Given the description of an element on the screen output the (x, y) to click on. 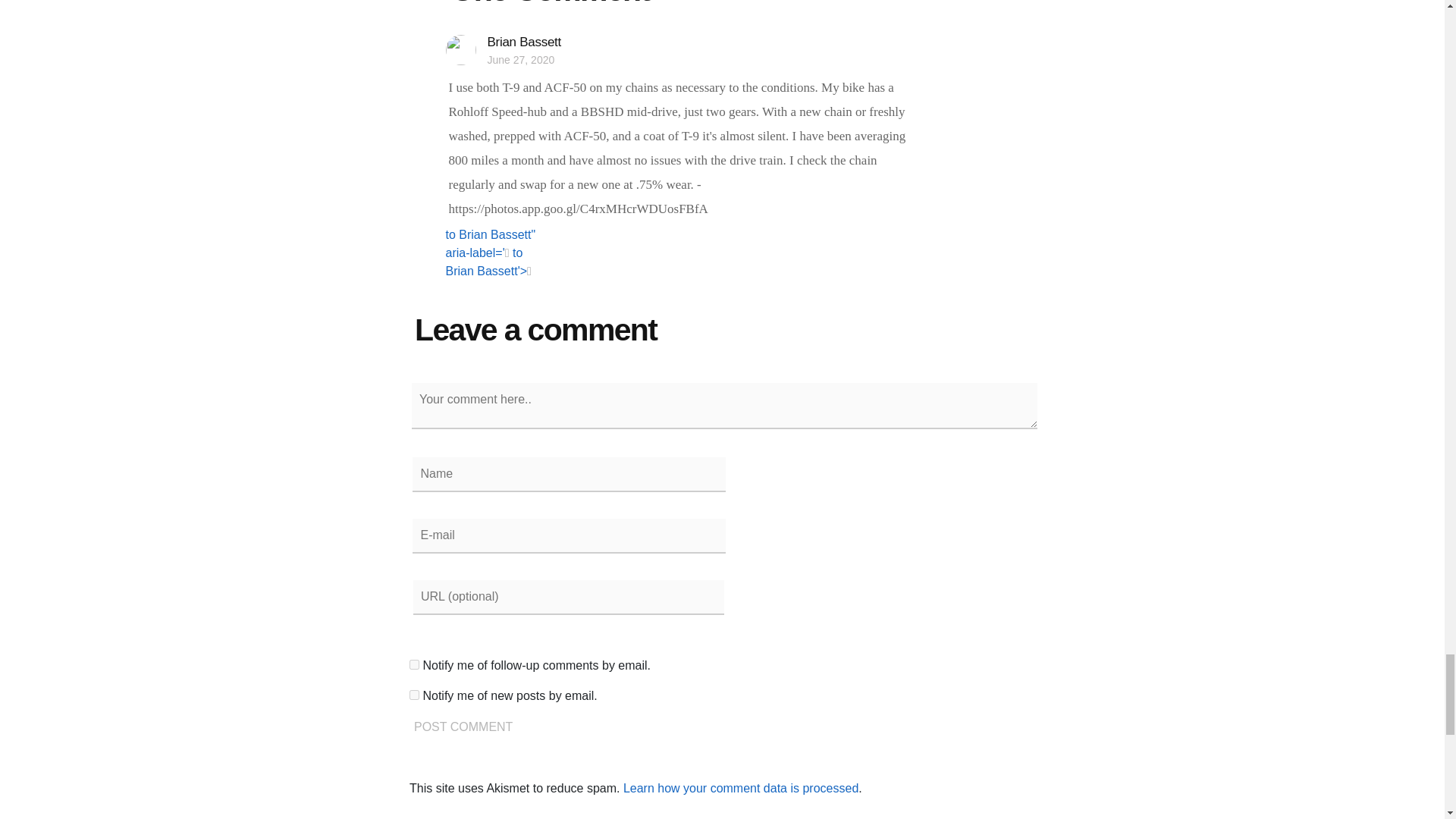
Post Comment (462, 727)
subscribe (414, 695)
subscribe (414, 664)
